Given the description of an element on the screen output the (x, y) to click on. 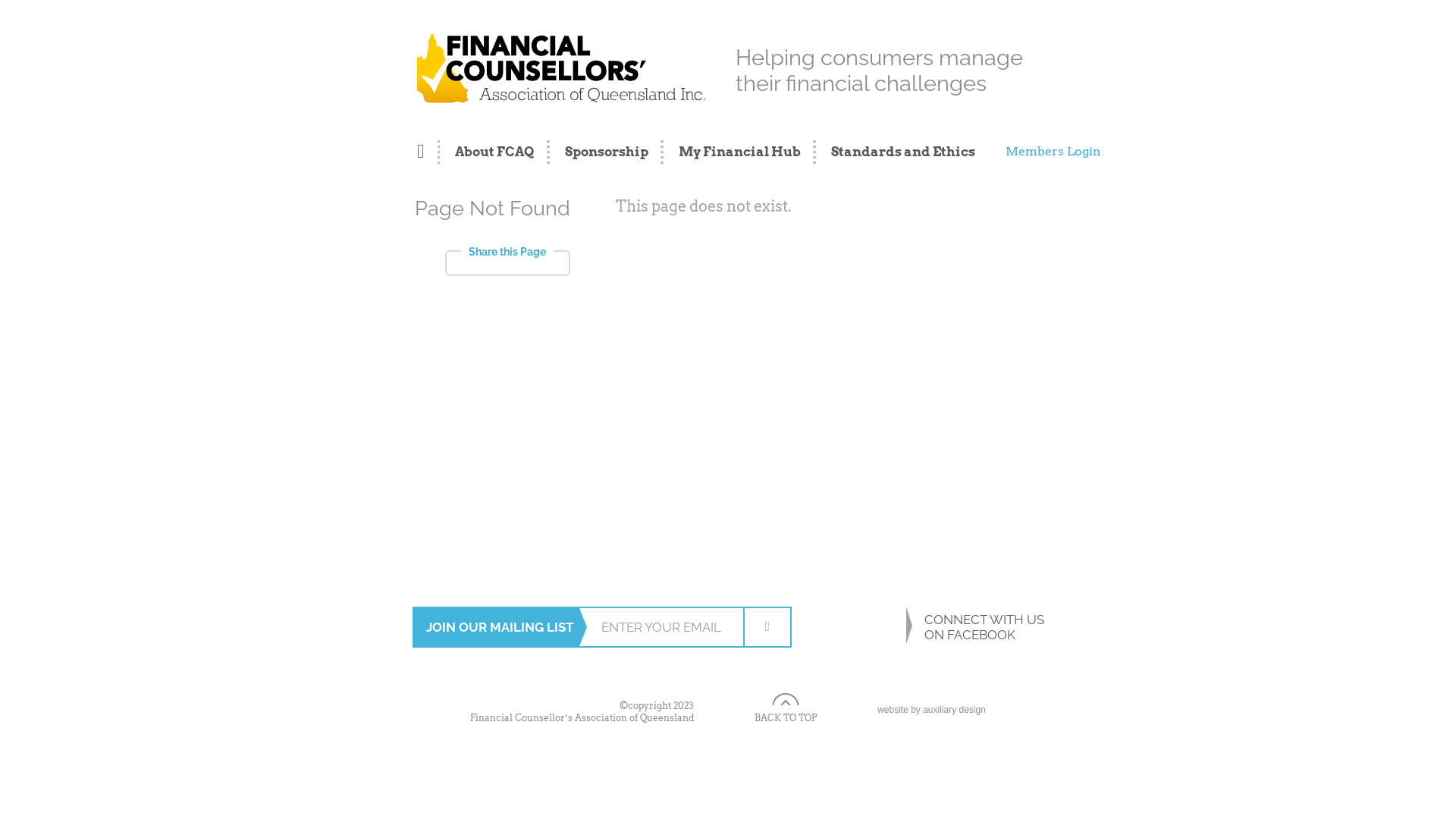
My Financial Hub Element type: text (738, 151)
Standards and Ethics Element type: text (895, 151)
Sponsorship Element type: text (605, 151)
Home Element type: text (428, 151)
Members Login Element type: text (1049, 151)
BACK TO TOP Element type: text (785, 708)
website by auxiliary design Element type: text (931, 710)
CONNECT WITH US
ON FACEBOOK Element type: text (948, 626)
About FCAQ Element type: text (494, 151)
